Given the description of an element on the screen output the (x, y) to click on. 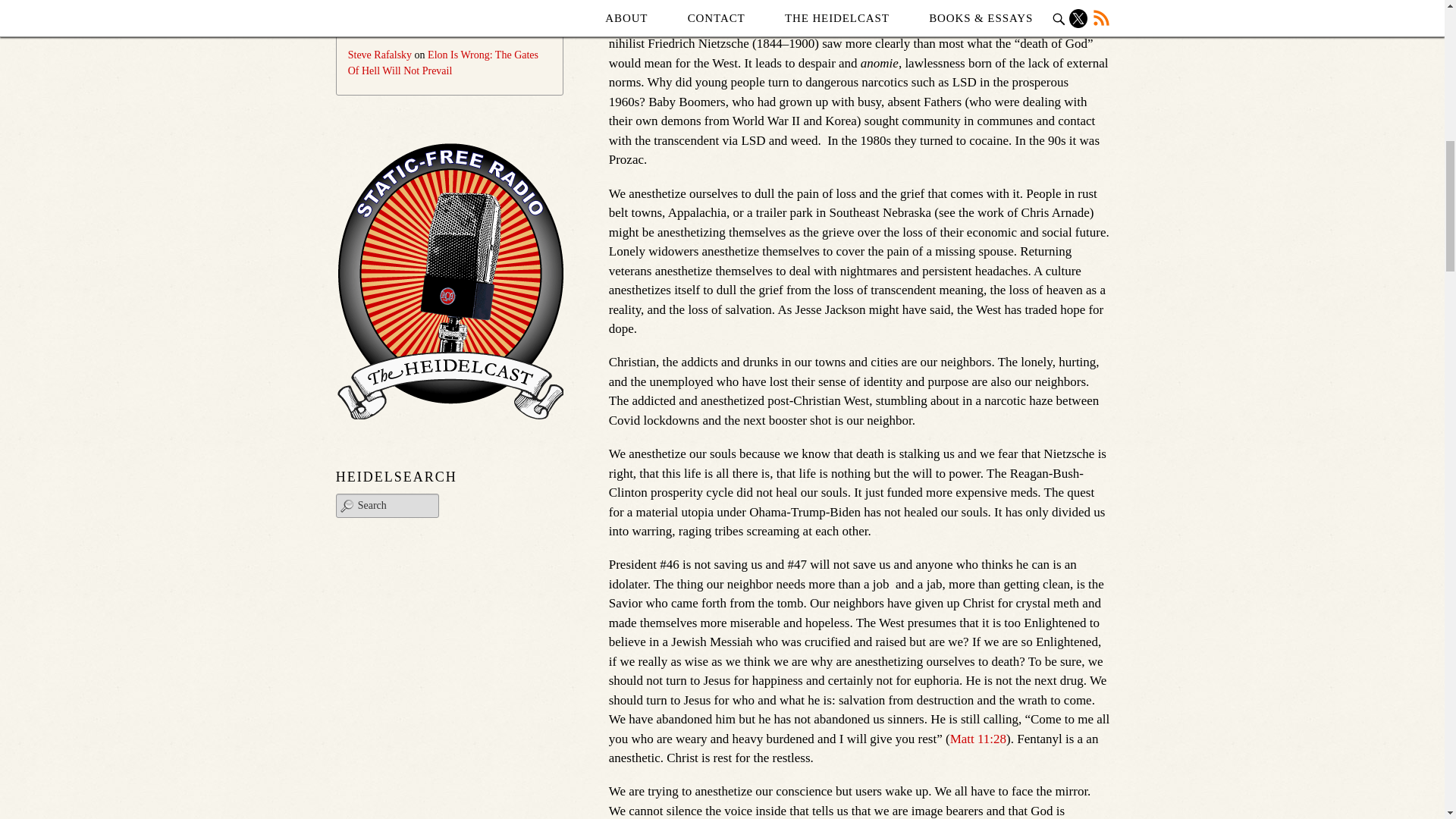
Brendan W. Case (653, 6)
Matt 11:28 (978, 739)
